Given the description of an element on the screen output the (x, y) to click on. 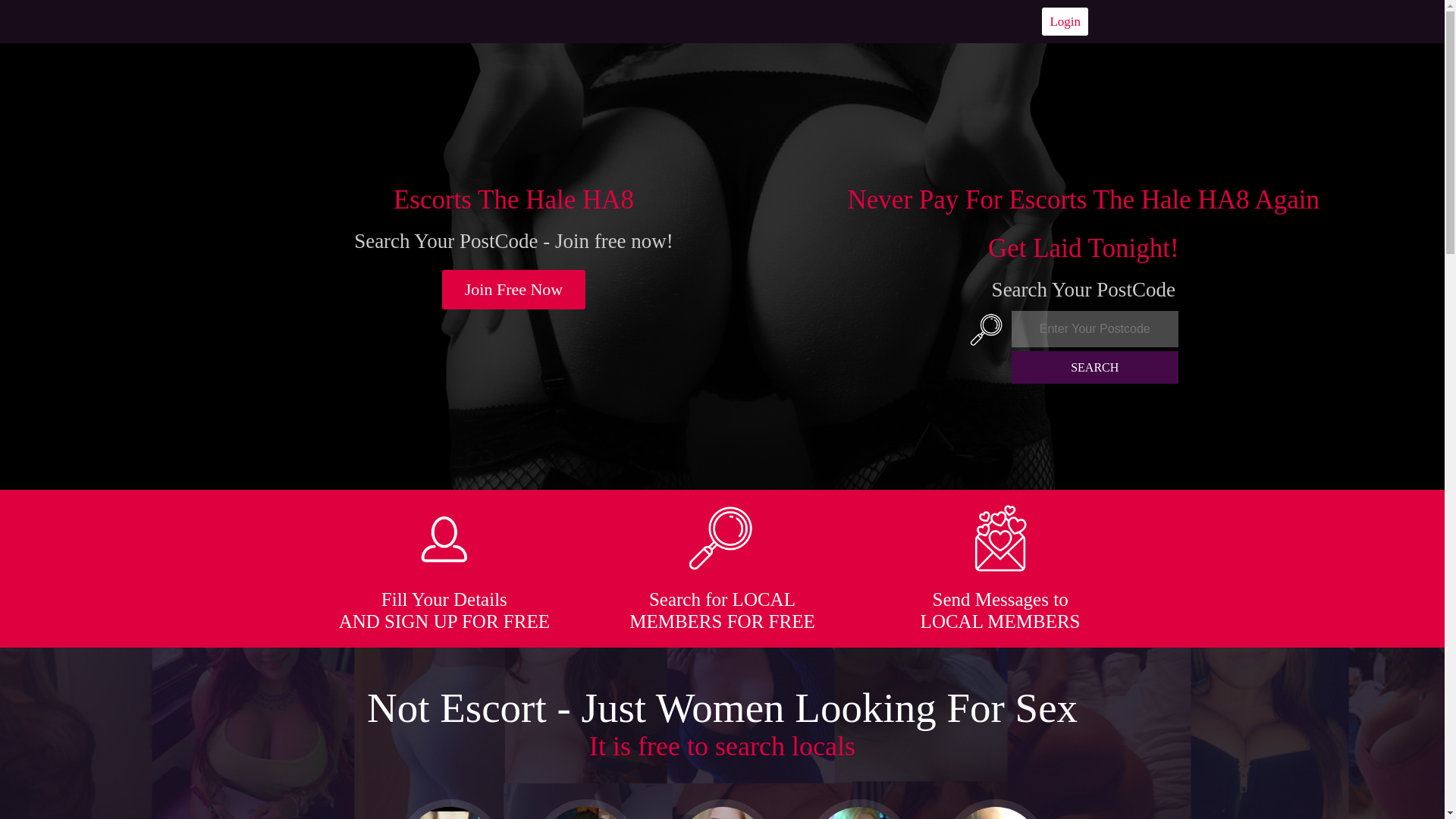
Join Free Now (514, 289)
Join (514, 289)
SEARCH (1094, 367)
Login to escort-london.uk (1064, 21)
Login (1064, 21)
